Given the description of an element on the screen output the (x, y) to click on. 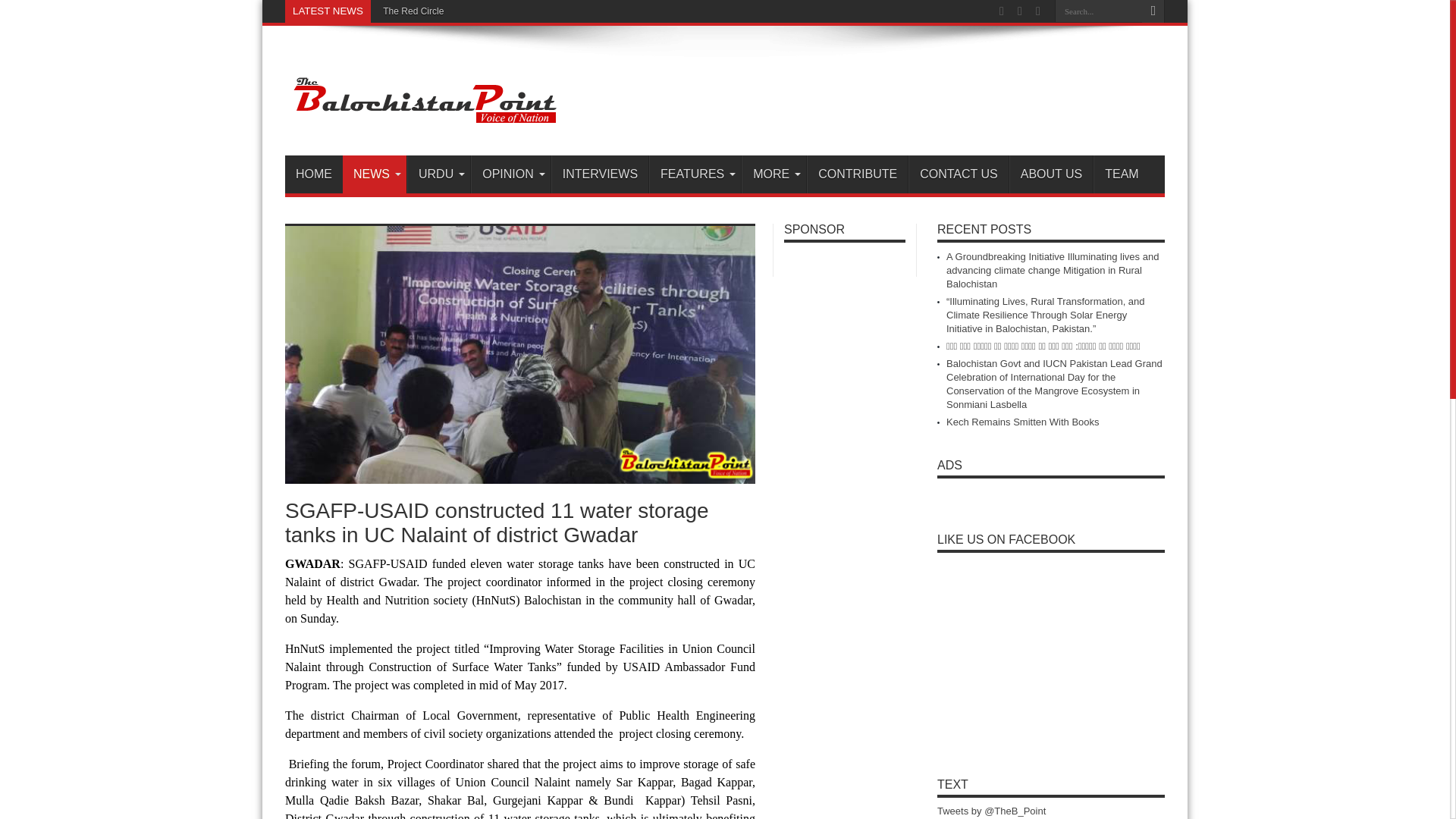
FEATURES (695, 174)
Search... (1097, 11)
OPINION (510, 174)
TEAM (1120, 174)
NEWS (374, 174)
INTERVIEWS (599, 174)
  The Red Circle (411, 11)
URDU (438, 174)
CONTACT US (958, 174)
Balochistan Point (422, 117)
ABOUT US (1051, 174)
HOME (313, 174)
CONTRIBUTE (856, 174)
Search (1152, 11)
